Given the description of an element on the screen output the (x, y) to click on. 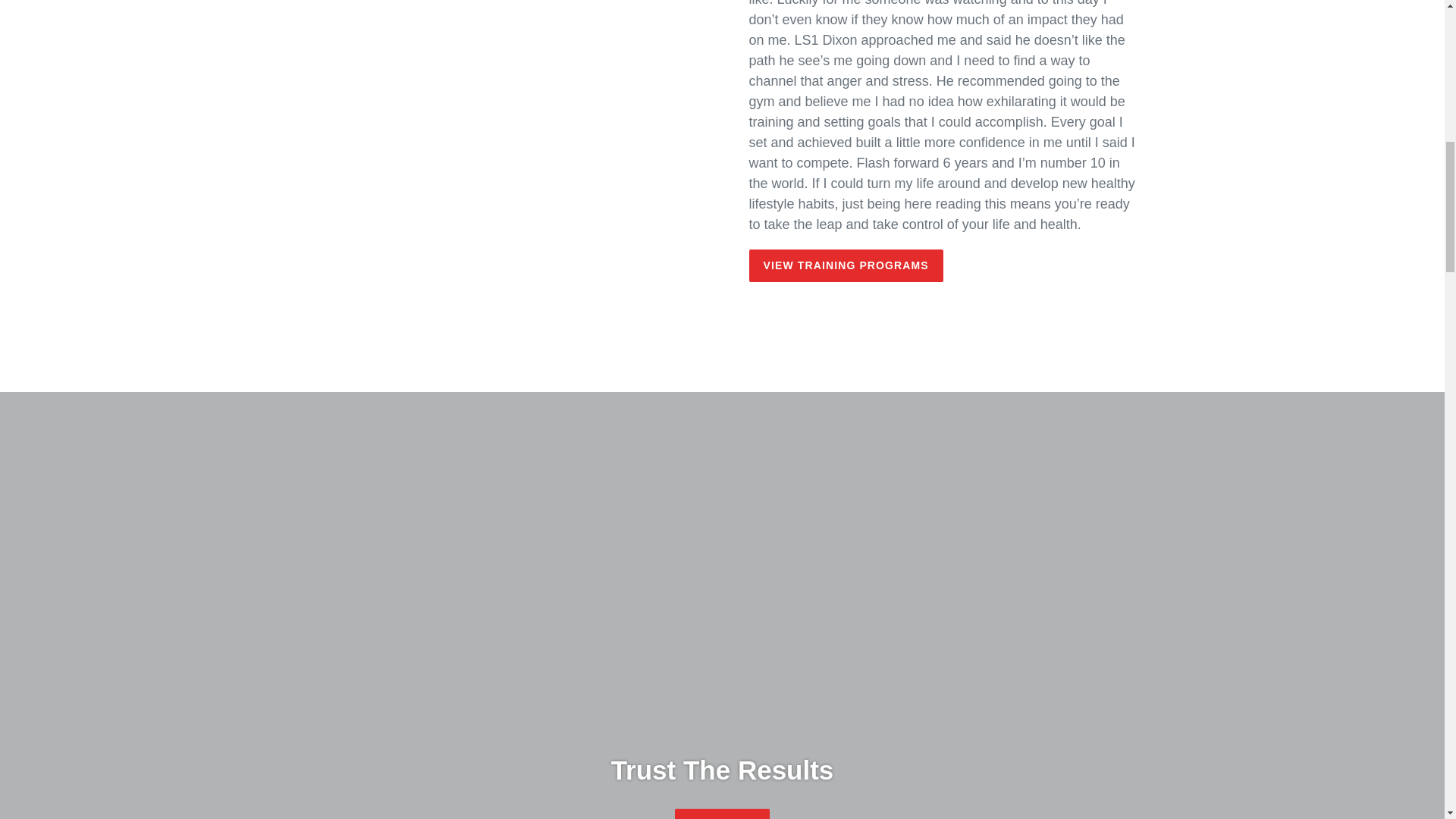
VIEW TRAINING PROGRAMS (846, 265)
SHOP NOW (722, 814)
